Given the description of an element on the screen output the (x, y) to click on. 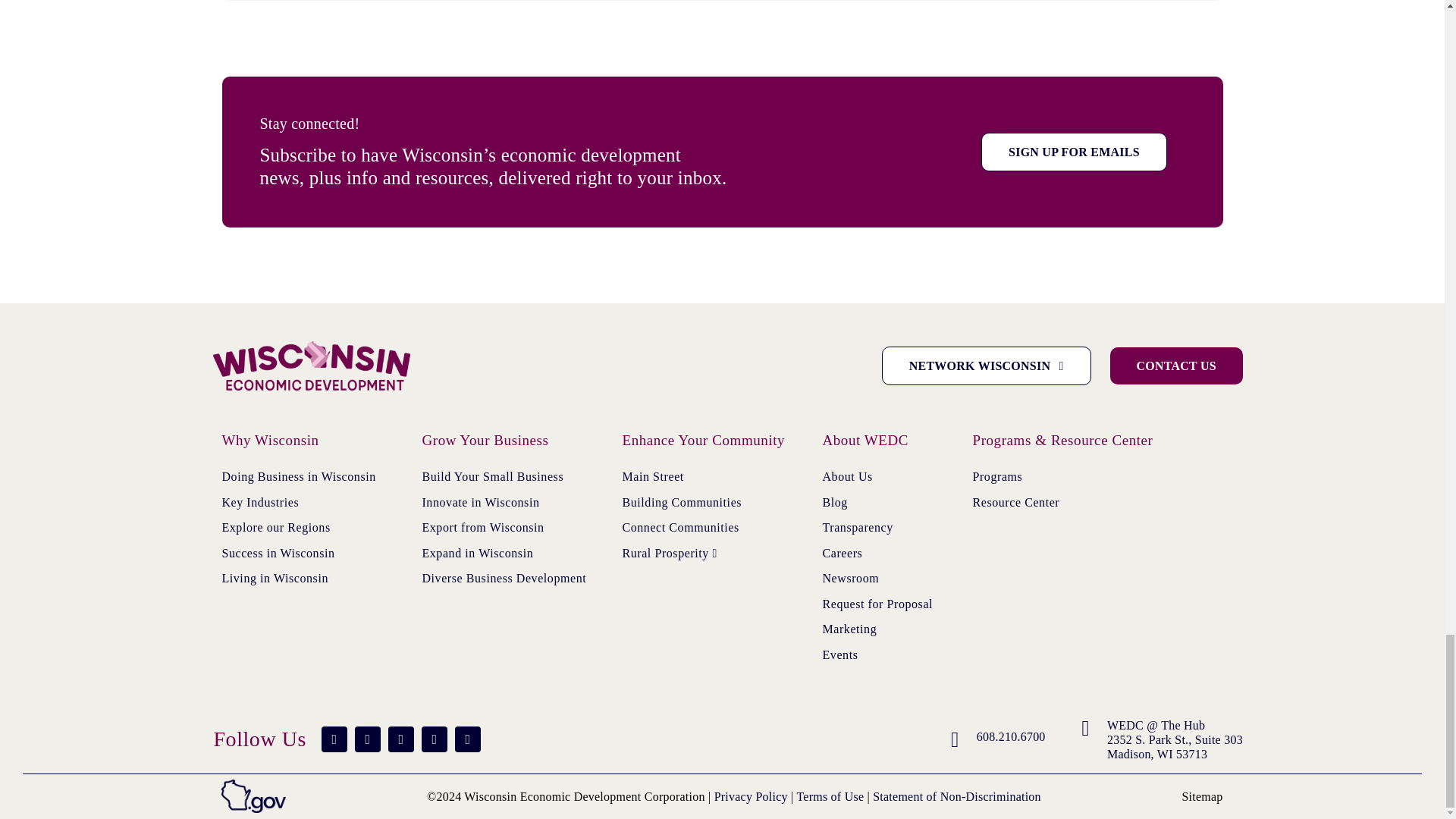
Network Wisconsin (986, 365)
Contact Us (1176, 365)
Sign Up For Emails (1074, 151)
